Given the description of an element on the screen output the (x, y) to click on. 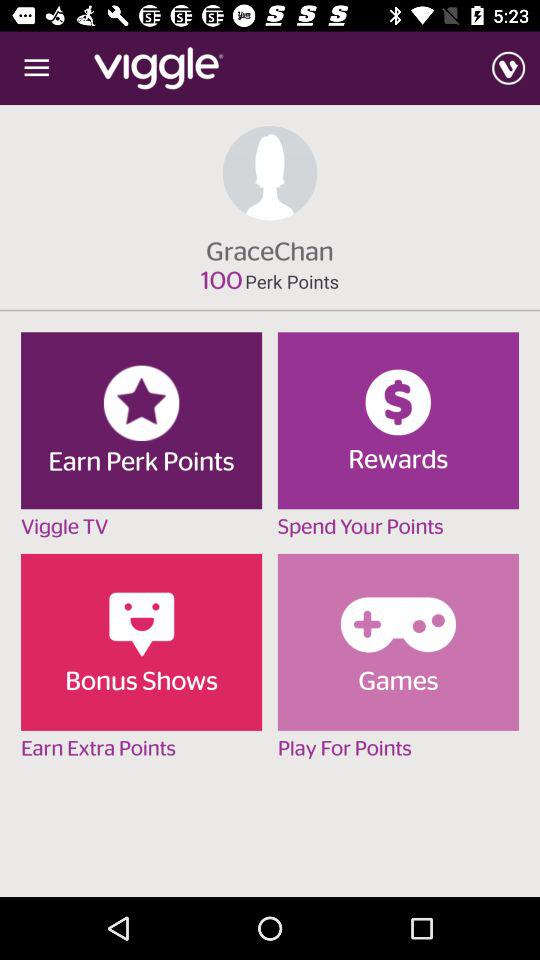
choose item at the top right corner (508, 67)
